Given the description of an element on the screen output the (x, y) to click on. 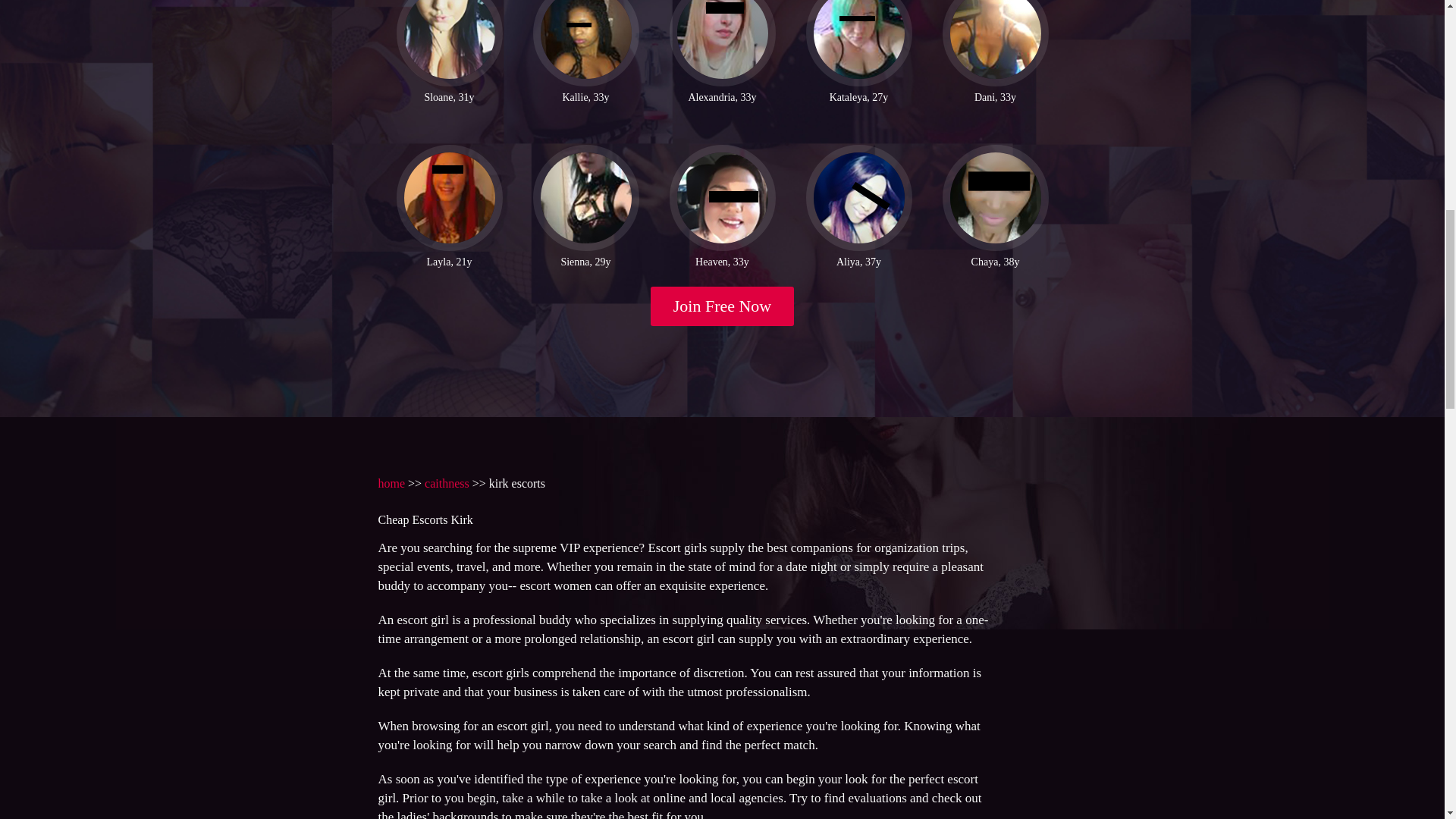
home (390, 482)
Join (722, 305)
caithness (446, 482)
Join Free Now (722, 305)
